Given the description of an element on the screen output the (x, y) to click on. 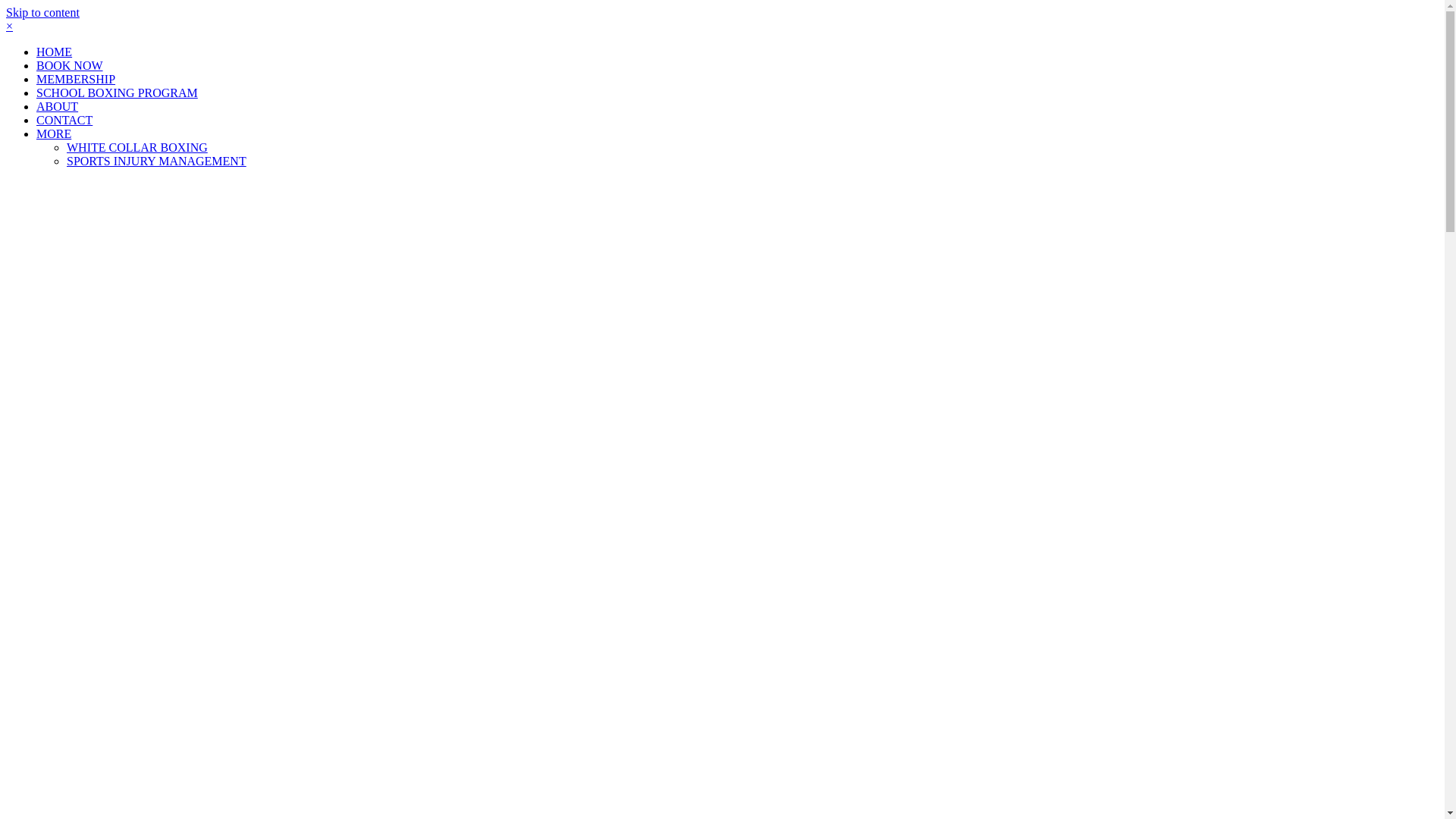
WHITE COLLAR BOXING Element type: text (136, 147)
SCHOOL BOXING PROGRAM Element type: text (116, 92)
MEMBERSHIP Element type: text (75, 78)
BOOK NOW Element type: text (69, 65)
SPORTS INJURY MANAGEMENT Element type: text (156, 160)
ABOUT Element type: text (57, 106)
HOME Element type: text (54, 51)
MORE Element type: text (53, 133)
Skip to content Element type: text (42, 12)
CONTACT Element type: text (64, 119)
